Given the description of an element on the screen output the (x, y) to click on. 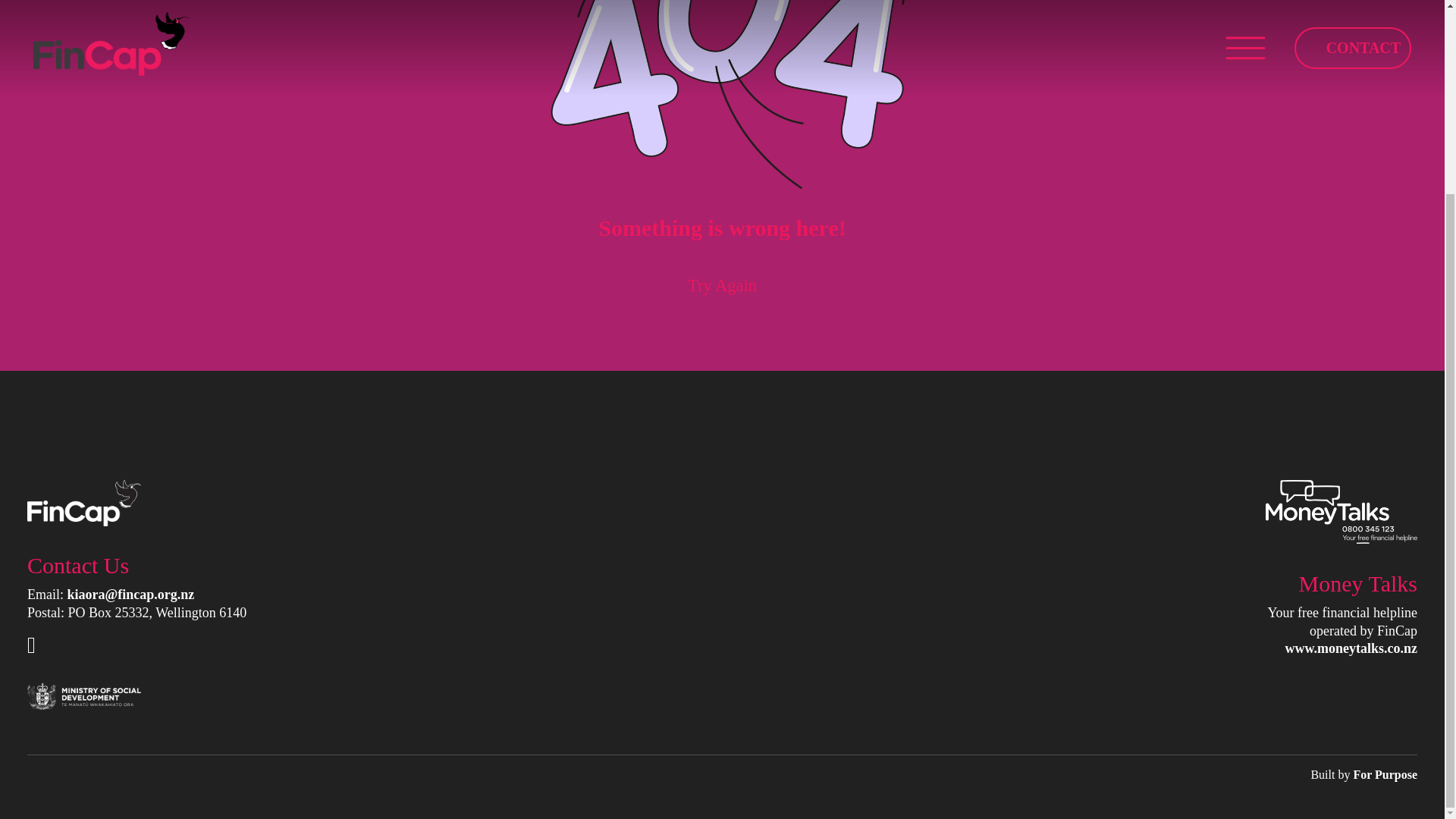
Try Again (722, 284)
For Purpose (1384, 774)
www.moneytalks.co.nz (1350, 648)
